Given the description of an element on the screen output the (x, y) to click on. 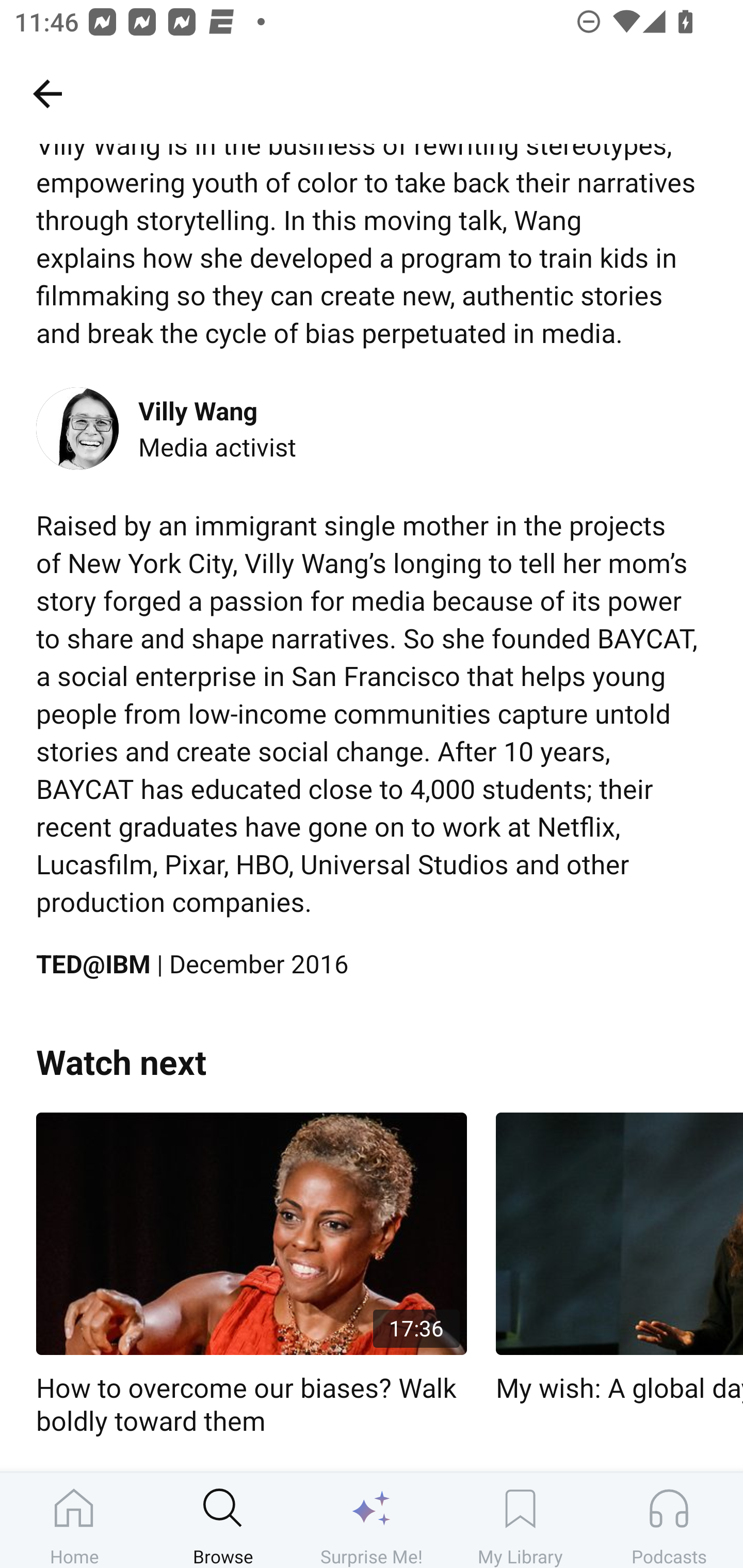
Search, back (47, 92)
Home (74, 1520)
Browse (222, 1520)
Surprise Me! (371, 1520)
My Library (519, 1520)
Podcasts (668, 1520)
